Given the description of an element on the screen output the (x, y) to click on. 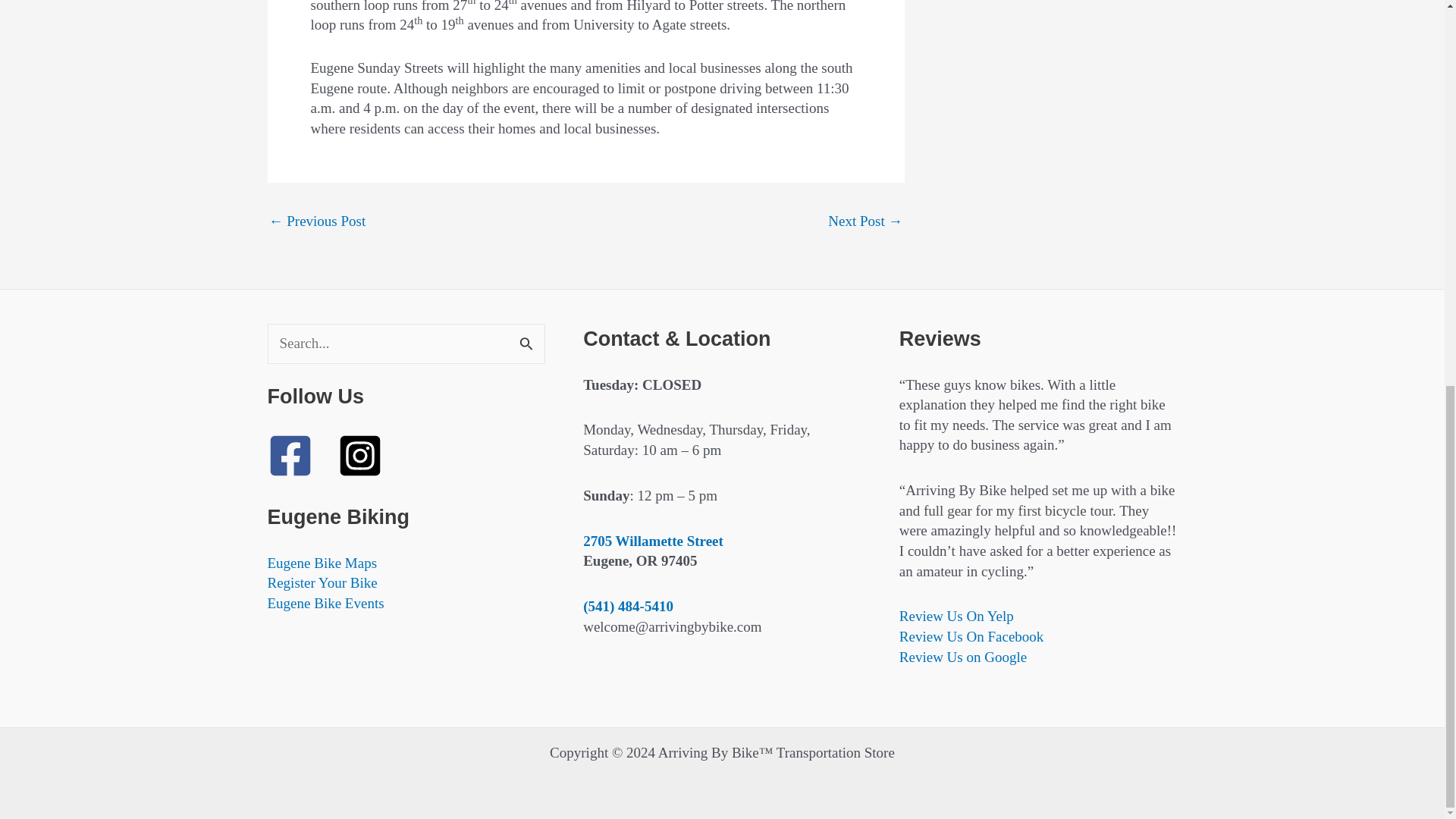
2nd Saturday South Willamette Art Walk: Saturday Sept. 8th (316, 220)
Event: Congressman DeFazio Bike Ride (865, 220)
Search (527, 340)
Search (527, 340)
